Given the description of an element on the screen output the (x, y) to click on. 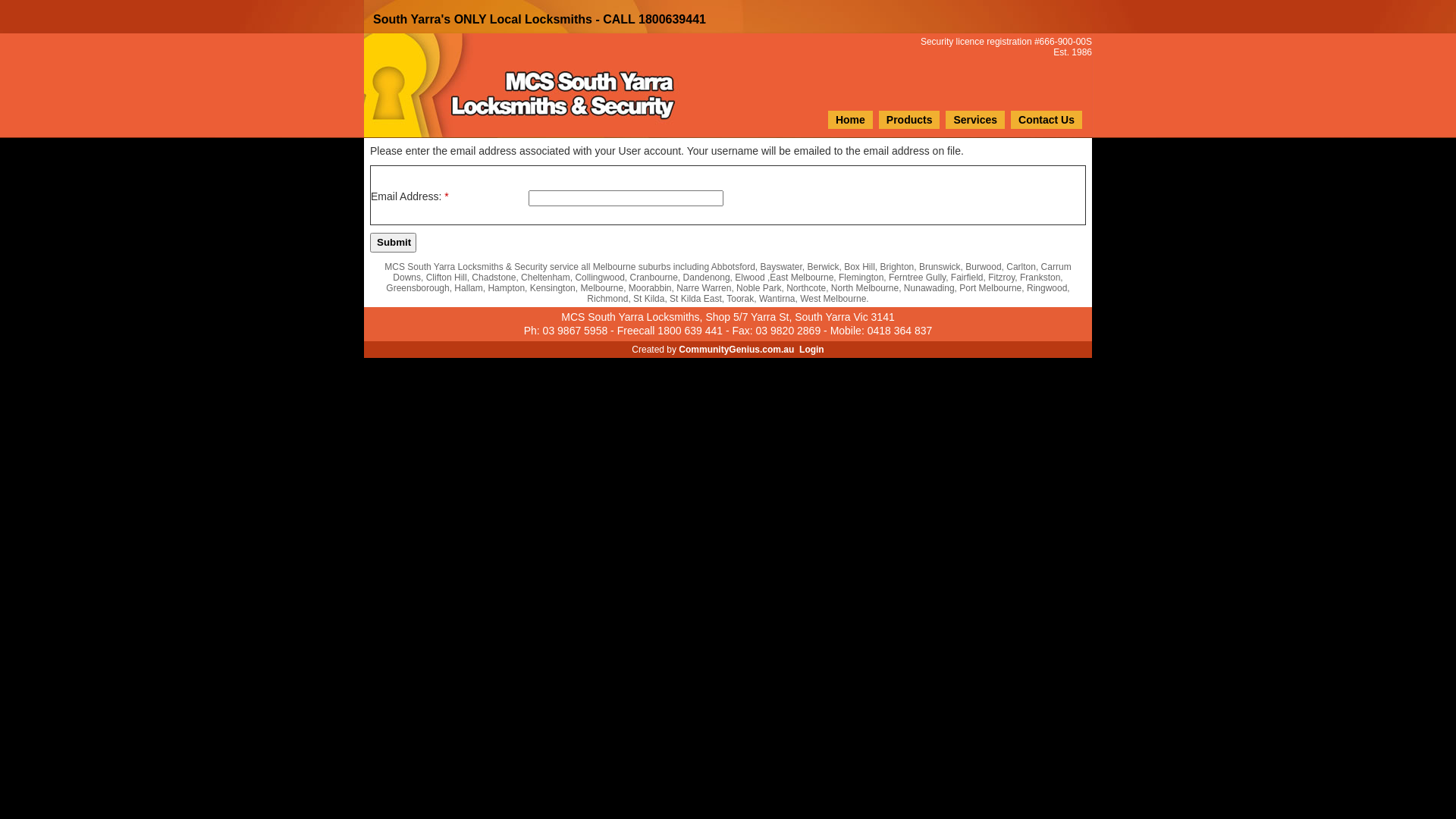
Submit Element type: text (393, 242)
CommunityGenius.com.au Element type: text (735, 349)
Services Element type: text (974, 119)
Contact Us Element type: text (1046, 119)
Products Element type: text (909, 119)
Home Element type: text (850, 119)
Login Element type: text (811, 349)
